Given the description of an element on the screen output the (x, y) to click on. 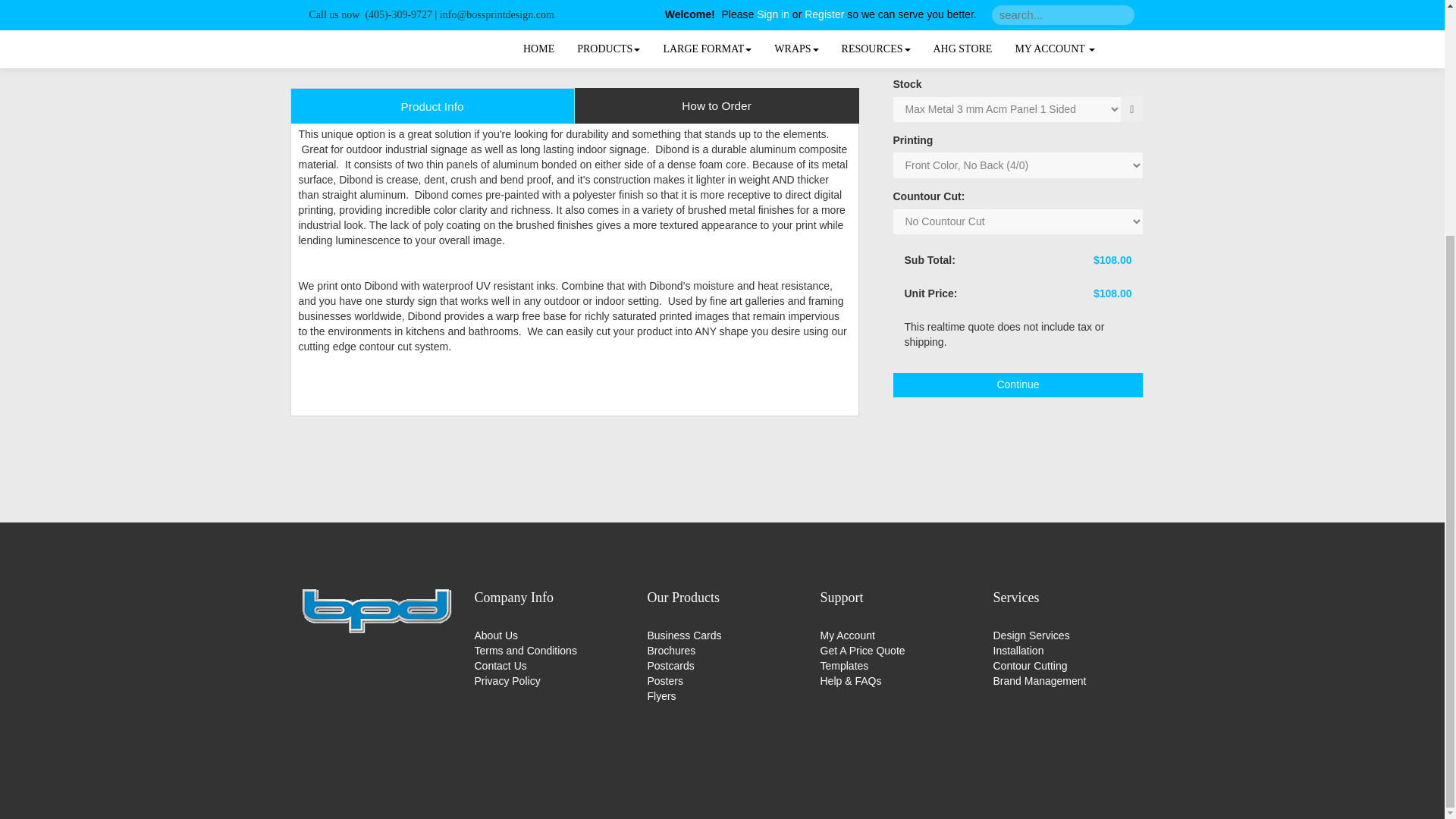
1 (1007, 4)
Product Info (431, 105)
Home (376, 610)
How to Order (717, 105)
